Given the description of an element on the screen output the (x, y) to click on. 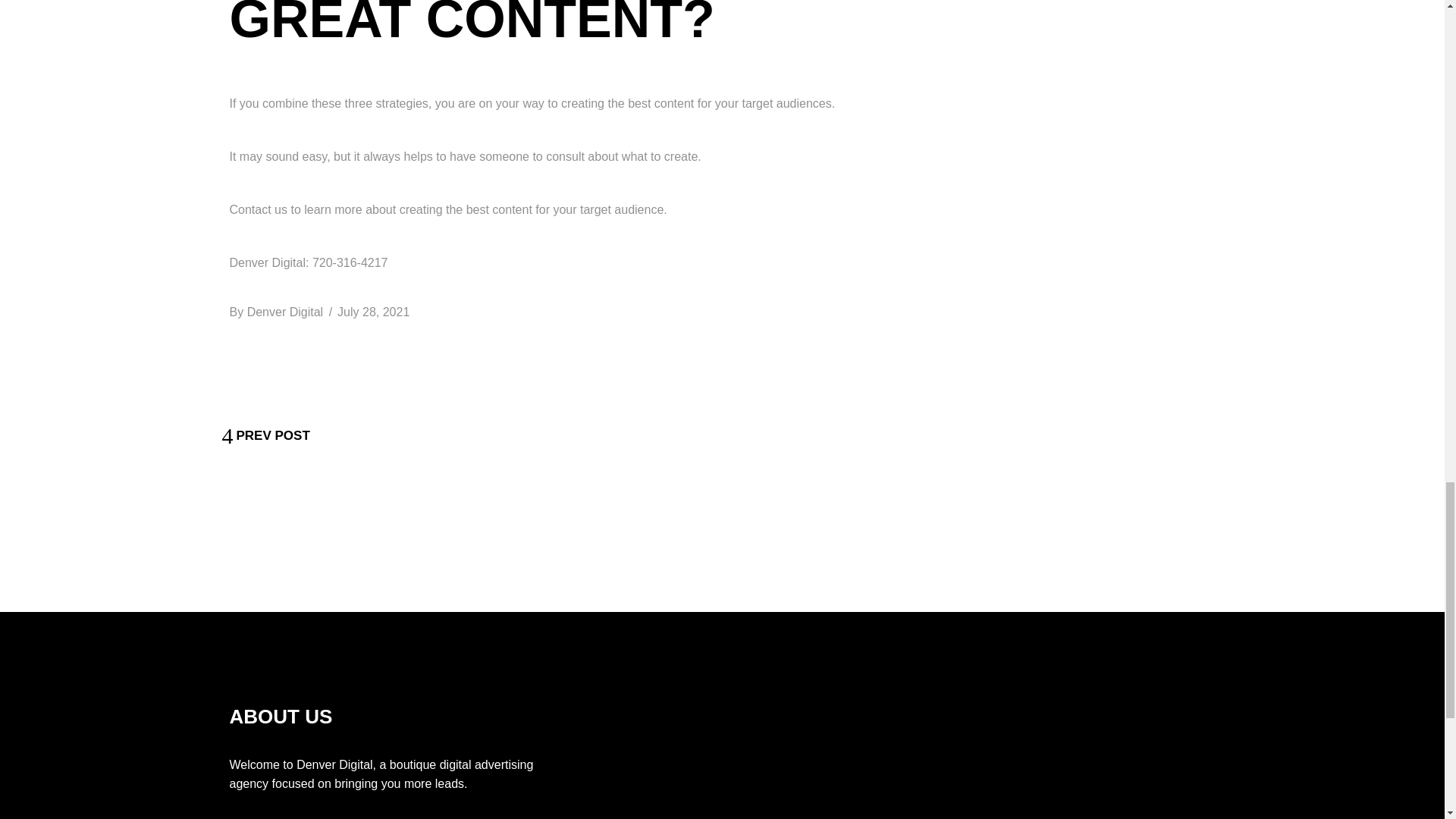
PREV POST (264, 435)
Denver Digital (285, 310)
July 28, 2021 (373, 310)
How to write the best content for your target audiences (373, 310)
